Given the description of an element on the screen output the (x, y) to click on. 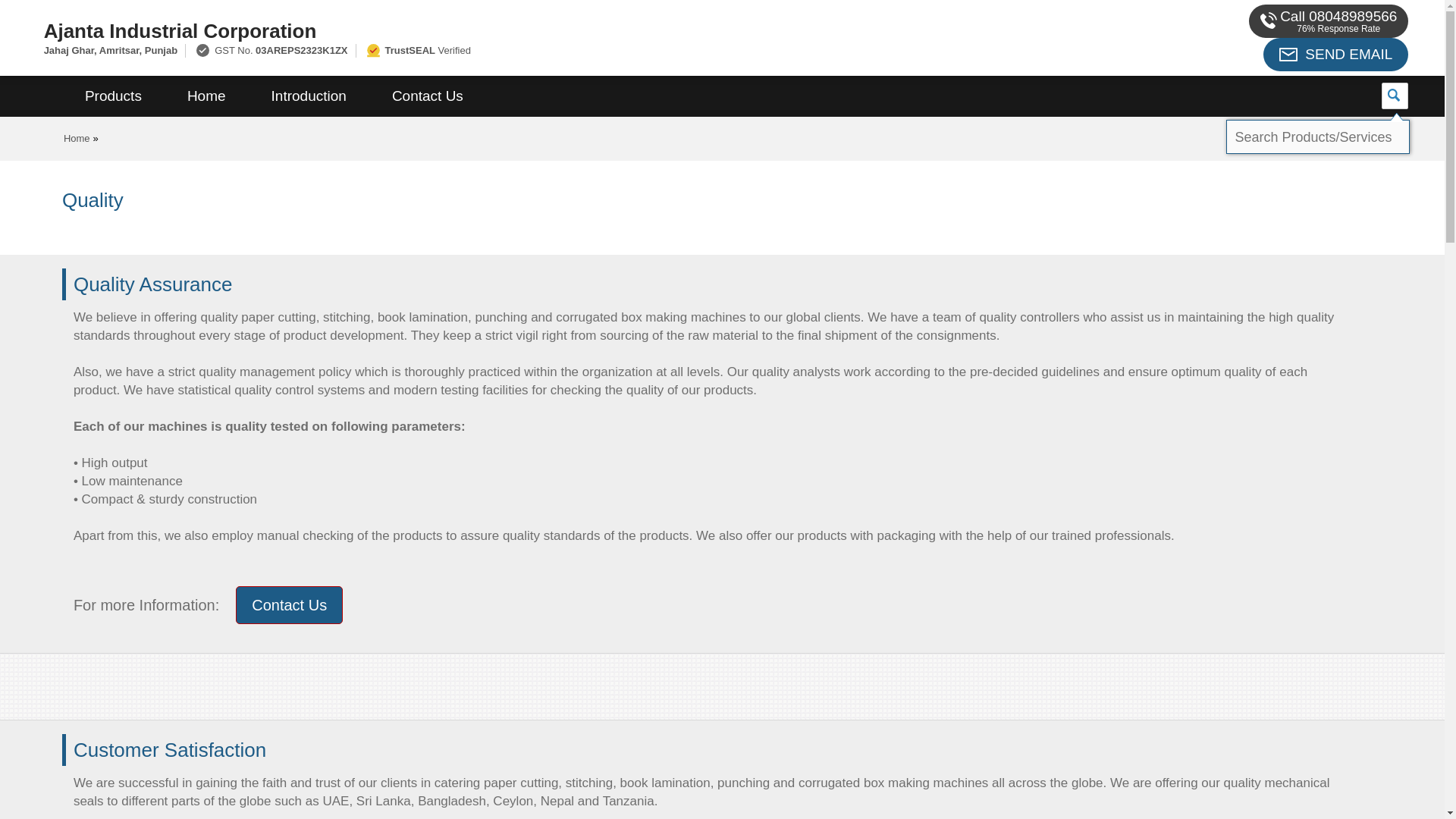
Contact Us (427, 96)
Introduction (308, 96)
Products (113, 96)
Home (77, 138)
Ajanta Industrial Corporation (480, 31)
Home (206, 96)
